Given the description of an element on the screen output the (x, y) to click on. 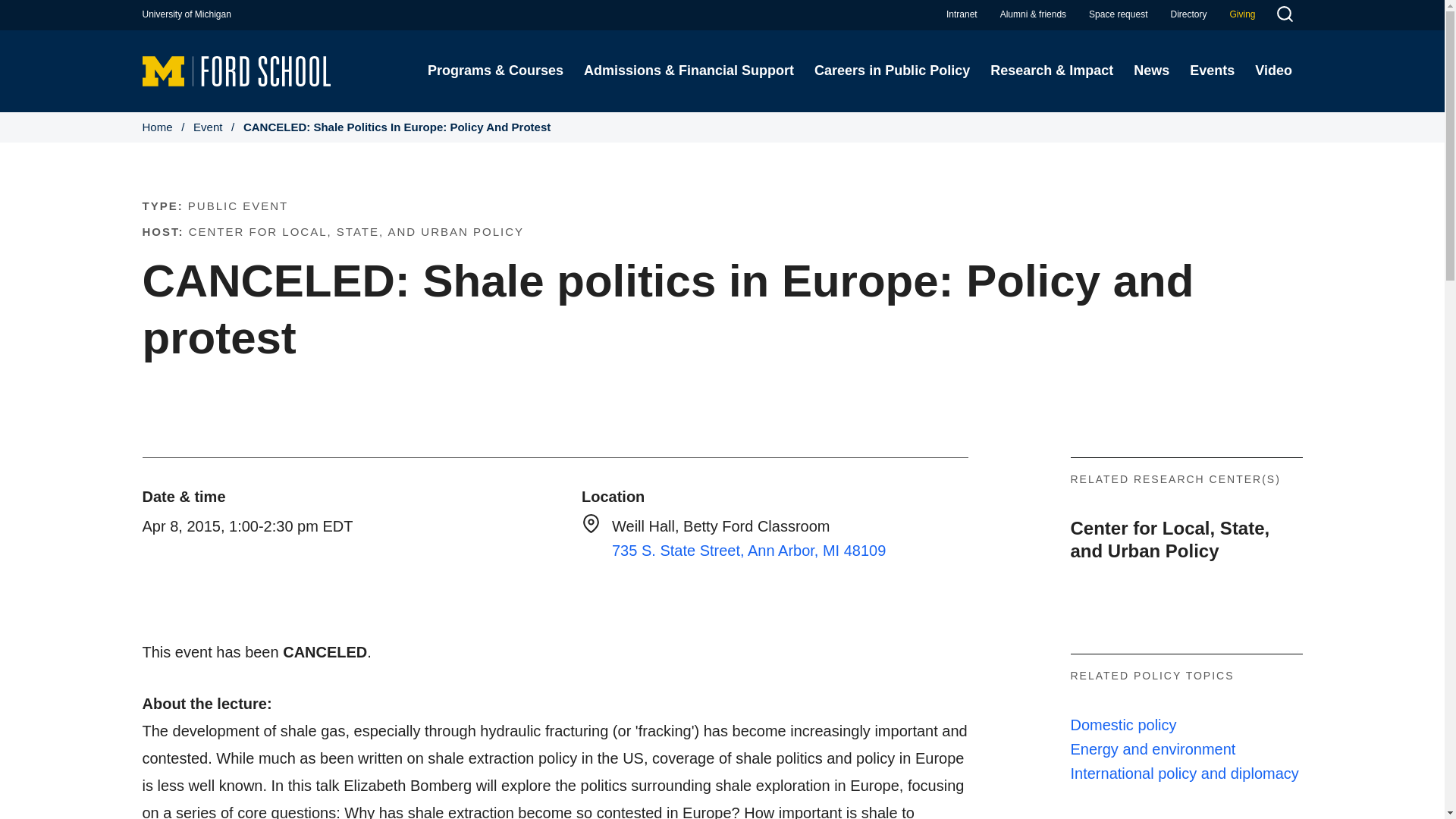
Space request (1118, 14)
University of Michigan (186, 14)
Search Toggle (1283, 15)
Learn more about our facilities and how to reserve them (1118, 14)
Intranet (961, 14)
Giving (1241, 14)
Ford School faculty, staff, and student contacts (1188, 14)
A connected community to each other, and to the world (1032, 14)
Directory (1188, 14)
Give to the Ford School (1241, 14)
Home (236, 69)
Ford School academic program and course information (494, 71)
